Given the description of an element on the screen output the (x, y) to click on. 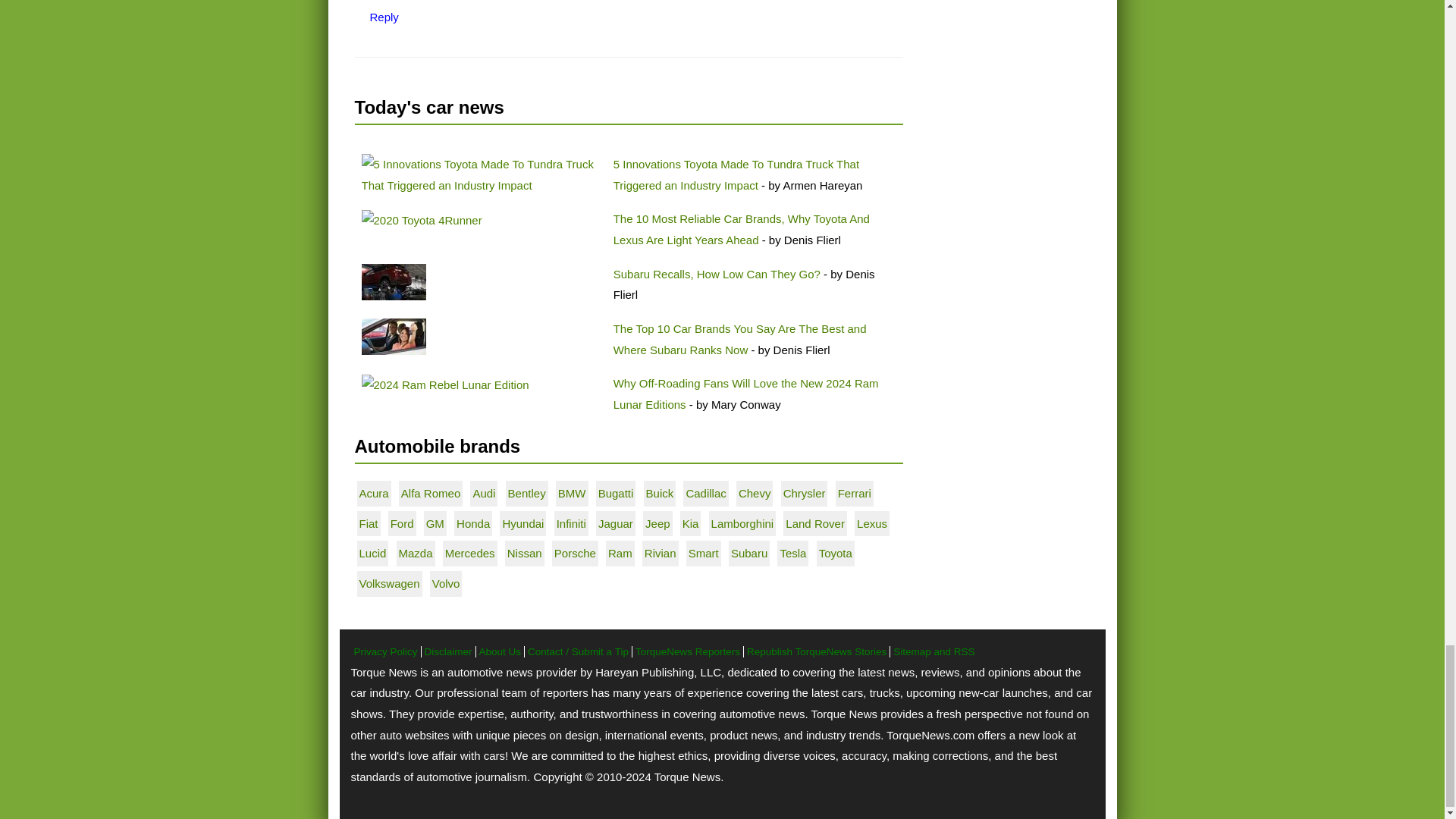
A female buyer with the 2024 Subaru Crosstrek Wilderness (393, 336)
2020 Toyota 4Runner in the dirt and mud (421, 219)
2024 Subaru Crosstrek at the dealer for a recall (393, 281)
Ram Photo (444, 384)
